Given the description of an element on the screen output the (x, y) to click on. 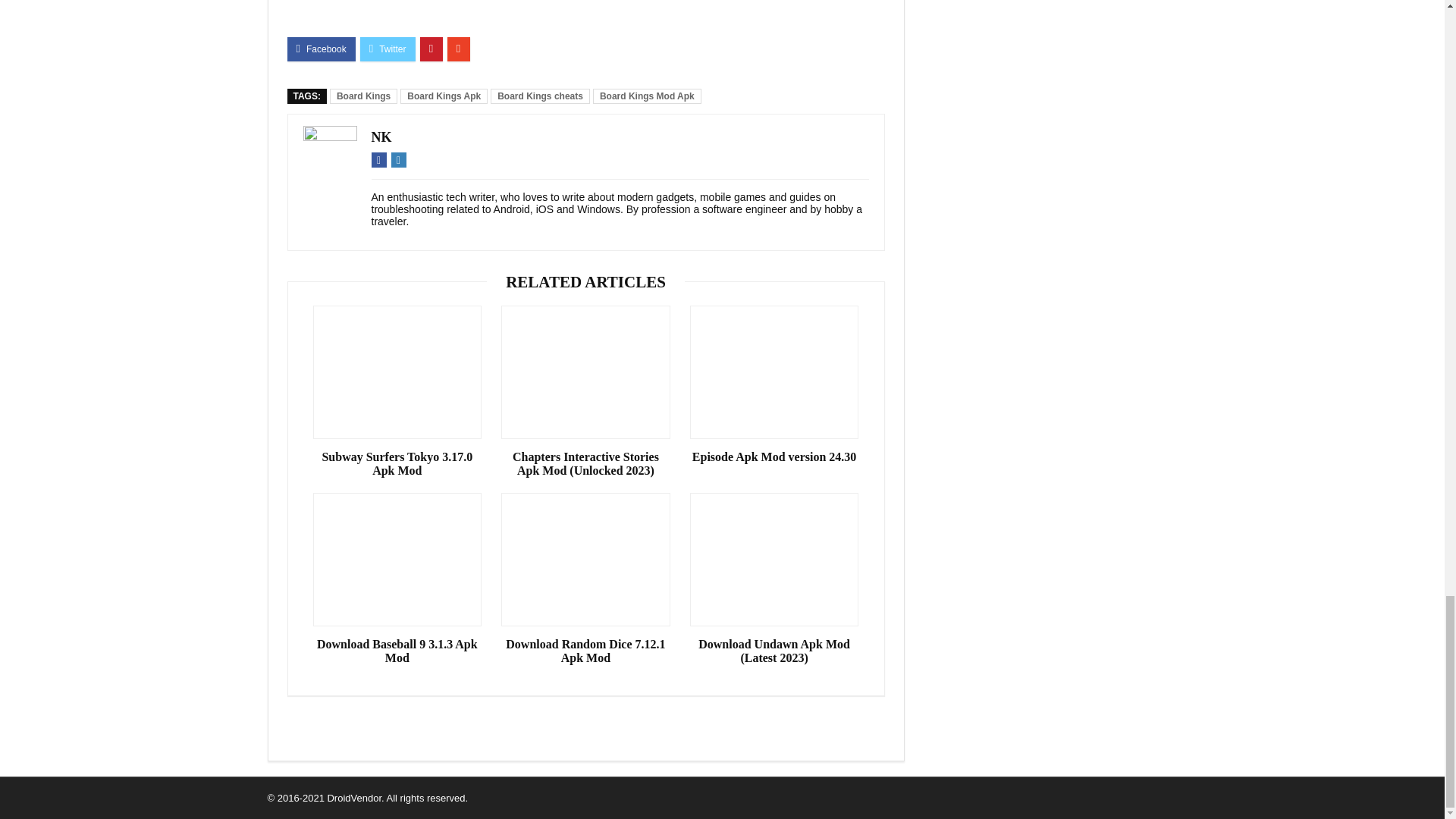
Episode Apk Mod version 24.30 (774, 457)
Download Baseball 9 3.1.3 Apk Mod (397, 651)
Posts by NK (381, 136)
Subway Surfers Tokyo 3.17.0 Apk Mod (397, 463)
